Given the description of an element on the screen output the (x, y) to click on. 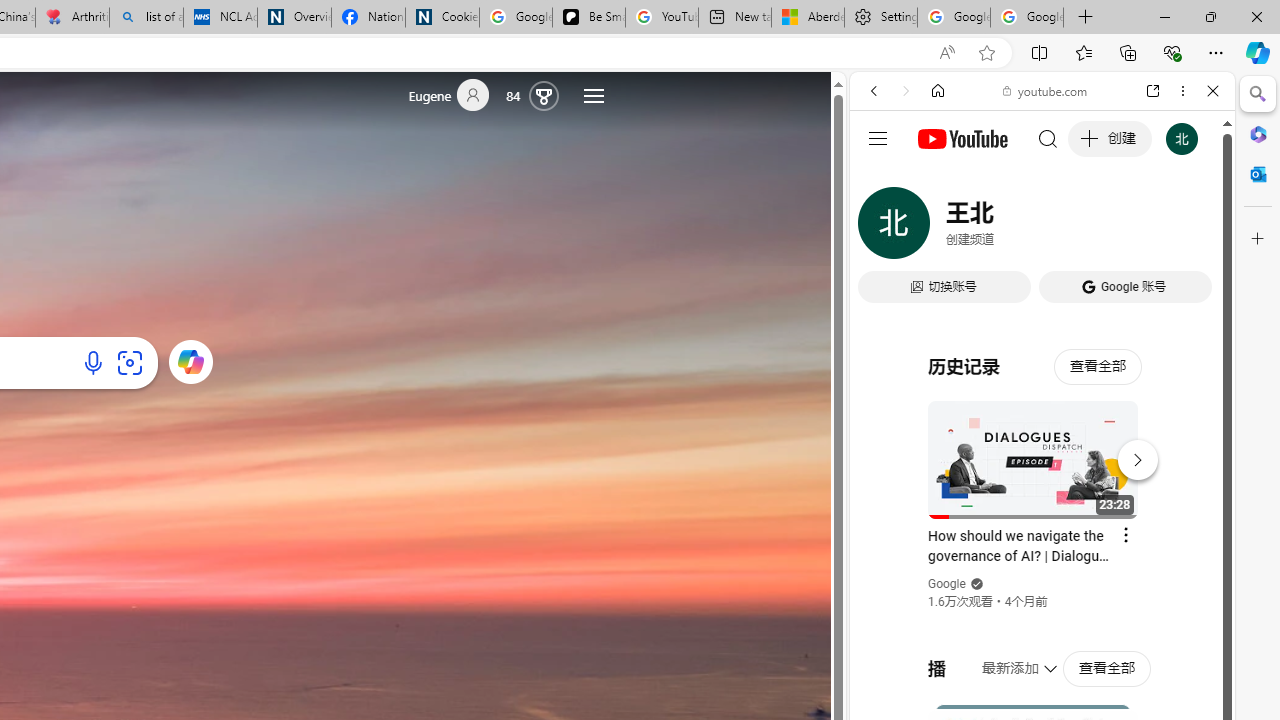
Show More Music (1164, 546)
